Given the description of an element on the screen output the (x, y) to click on. 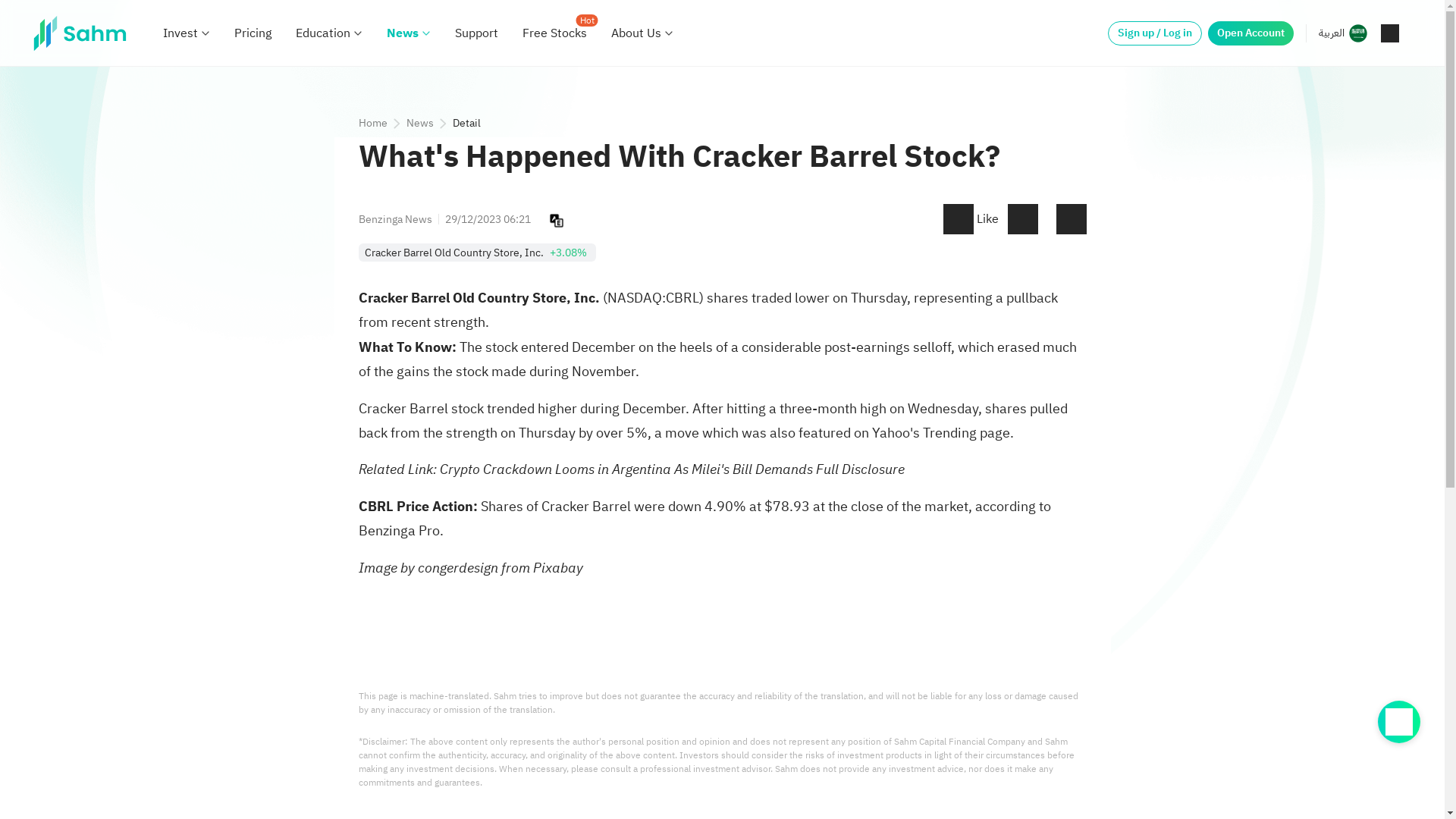
News (403, 33)
Education (322, 33)
Support (475, 33)
Invest (180, 33)
Pricing (252, 33)
Invest (180, 33)
Pricing (252, 33)
Free Stocks (554, 33)
Education (322, 33)
About Us (636, 33)
